Given the description of an element on the screen output the (x, y) to click on. 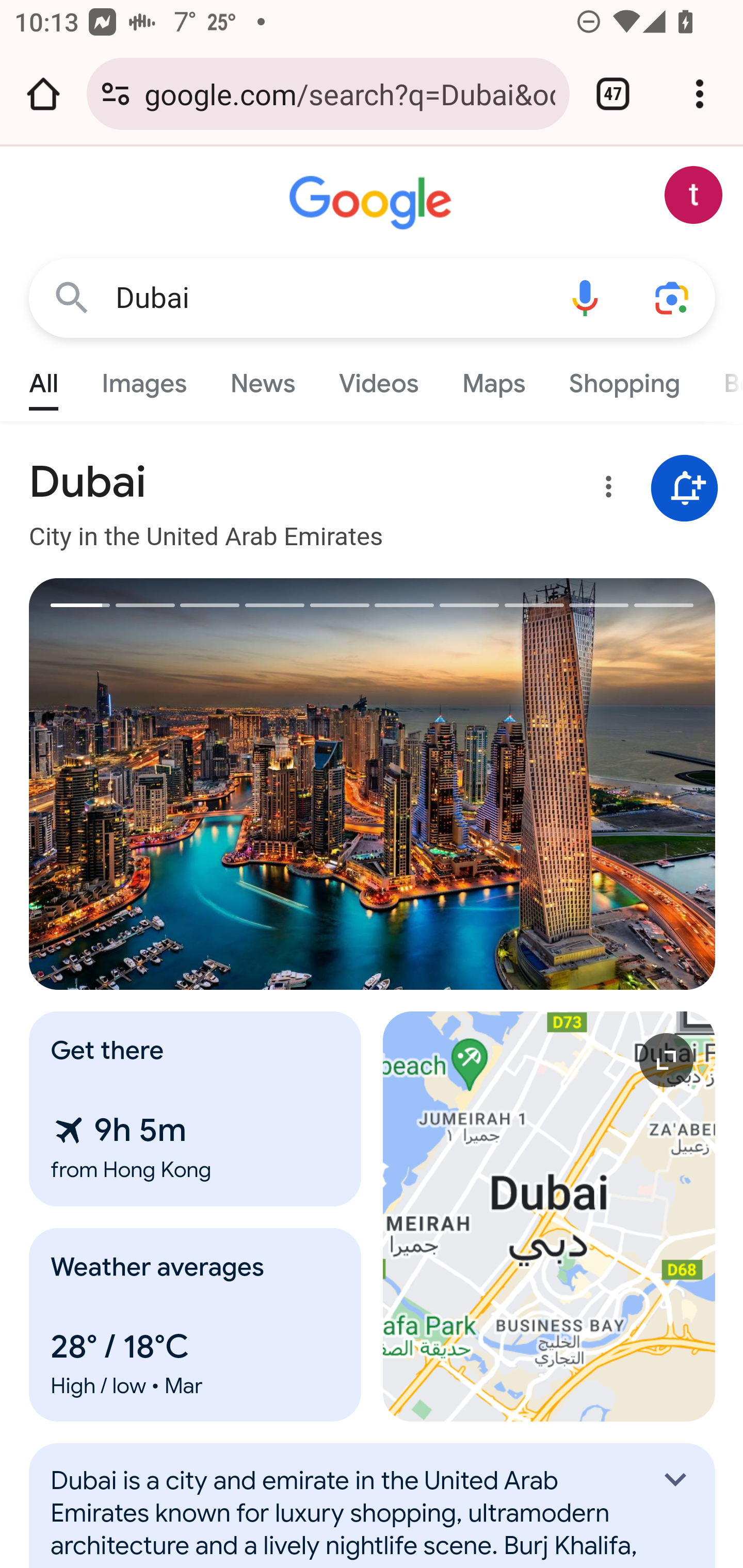
Open the home page (43, 93)
Connection is secure (115, 93)
Switch or close tabs (612, 93)
Customize and control Google Chrome (699, 93)
Google (372, 203)
Google Search (71, 296)
Search using your camera or photos (672, 296)
Dubai (328, 297)
Images (144, 378)
News (262, 378)
Videos (378, 378)
Maps (493, 378)
Shopping (623, 378)
Get notifications about Dubai (684, 489)
More options (605, 489)
Previous image (200, 783)
Next image (544, 783)
Expand map (549, 1216)
Weather averages 28° / 18°C High / low • Mar (195, 1324)
